Given the description of an element on the screen output the (x, y) to click on. 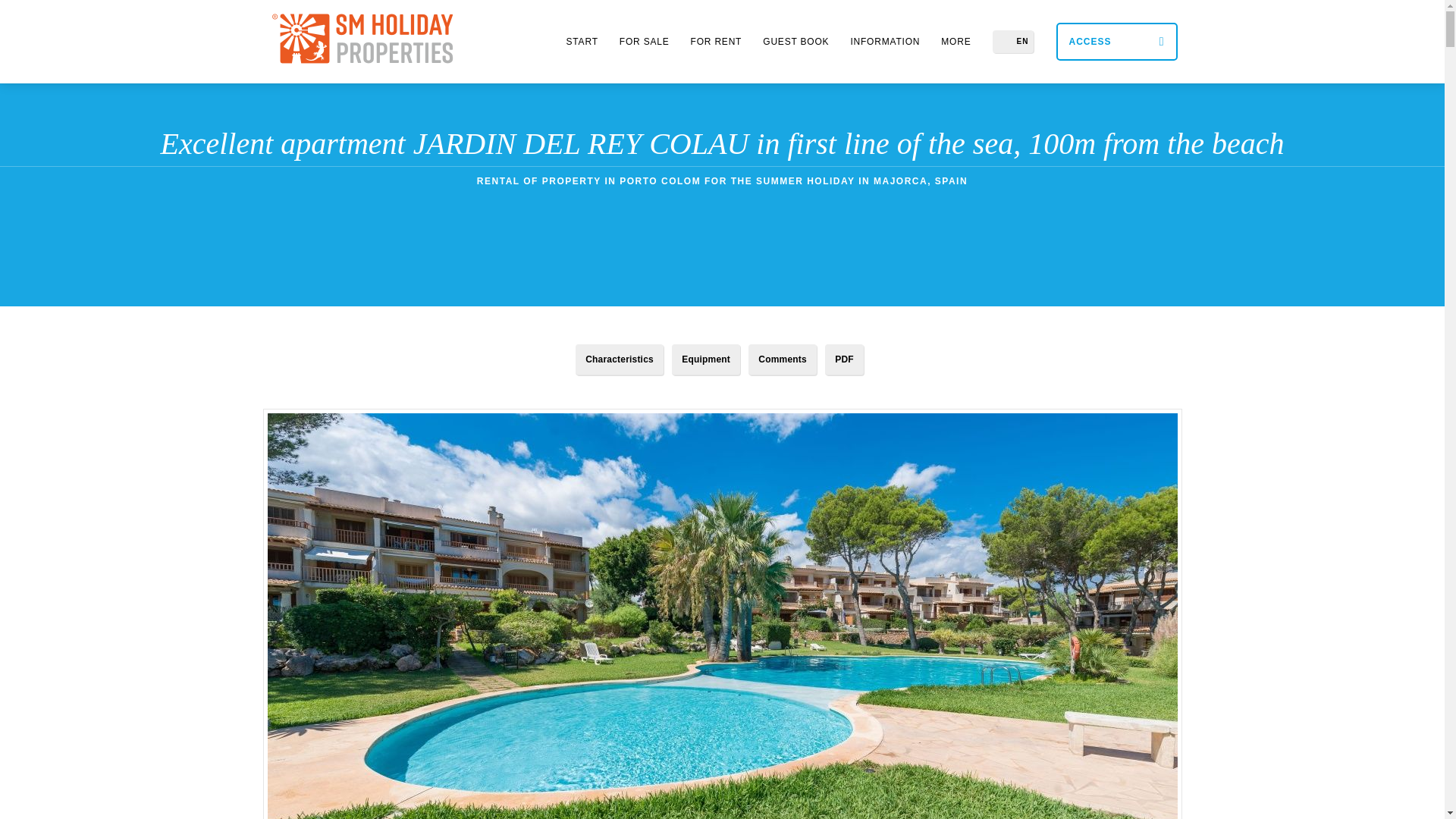
sendform (135, 18)
ACCESS (1115, 41)
Characteristics (619, 359)
Comments (782, 359)
INFORMATION (885, 41)
FOR RENT (715, 41)
EN (1011, 41)
GUEST BOOK (796, 41)
MORE (955, 41)
PDF (844, 359)
START (582, 41)
FOR SALE (643, 41)
Equipment (705, 359)
